Given the description of an element on the screen output the (x, y) to click on. 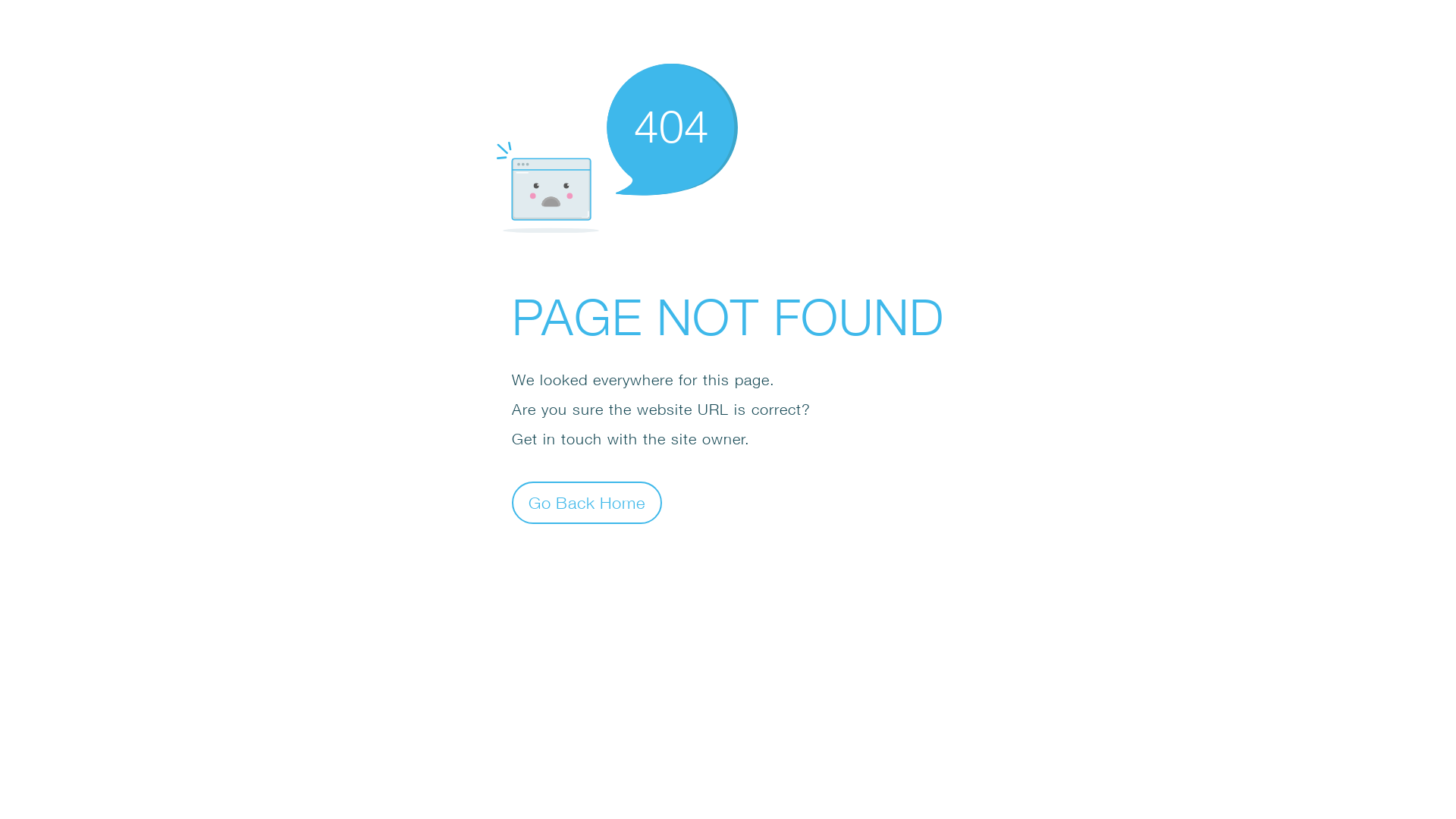
Go Back Home Element type: text (586, 502)
